Given the description of an element on the screen output the (x, y) to click on. 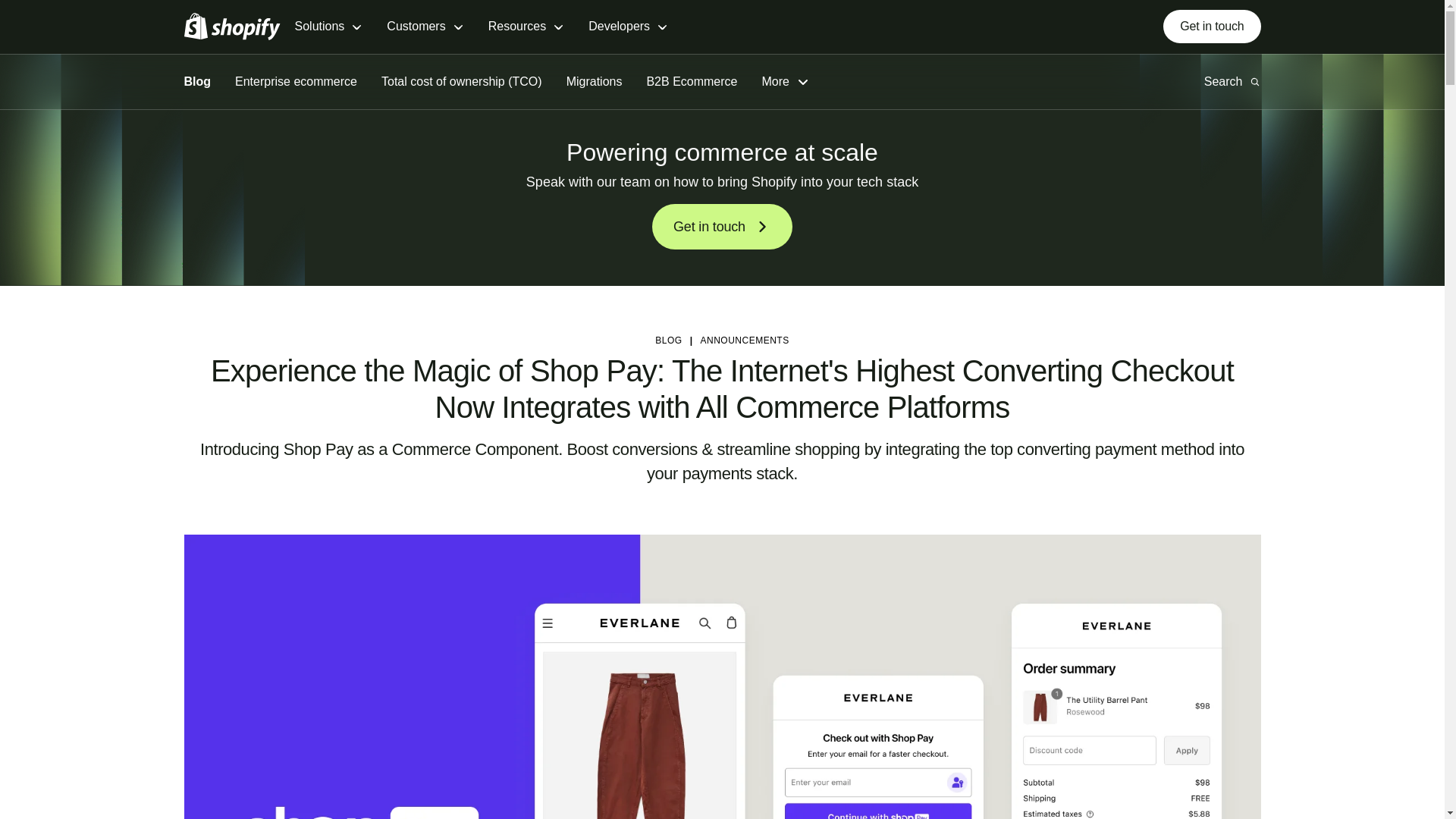
Solutions (328, 27)
Customers (425, 27)
Developers (628, 27)
Resources (525, 27)
